Given the description of an element on the screen output the (x, y) to click on. 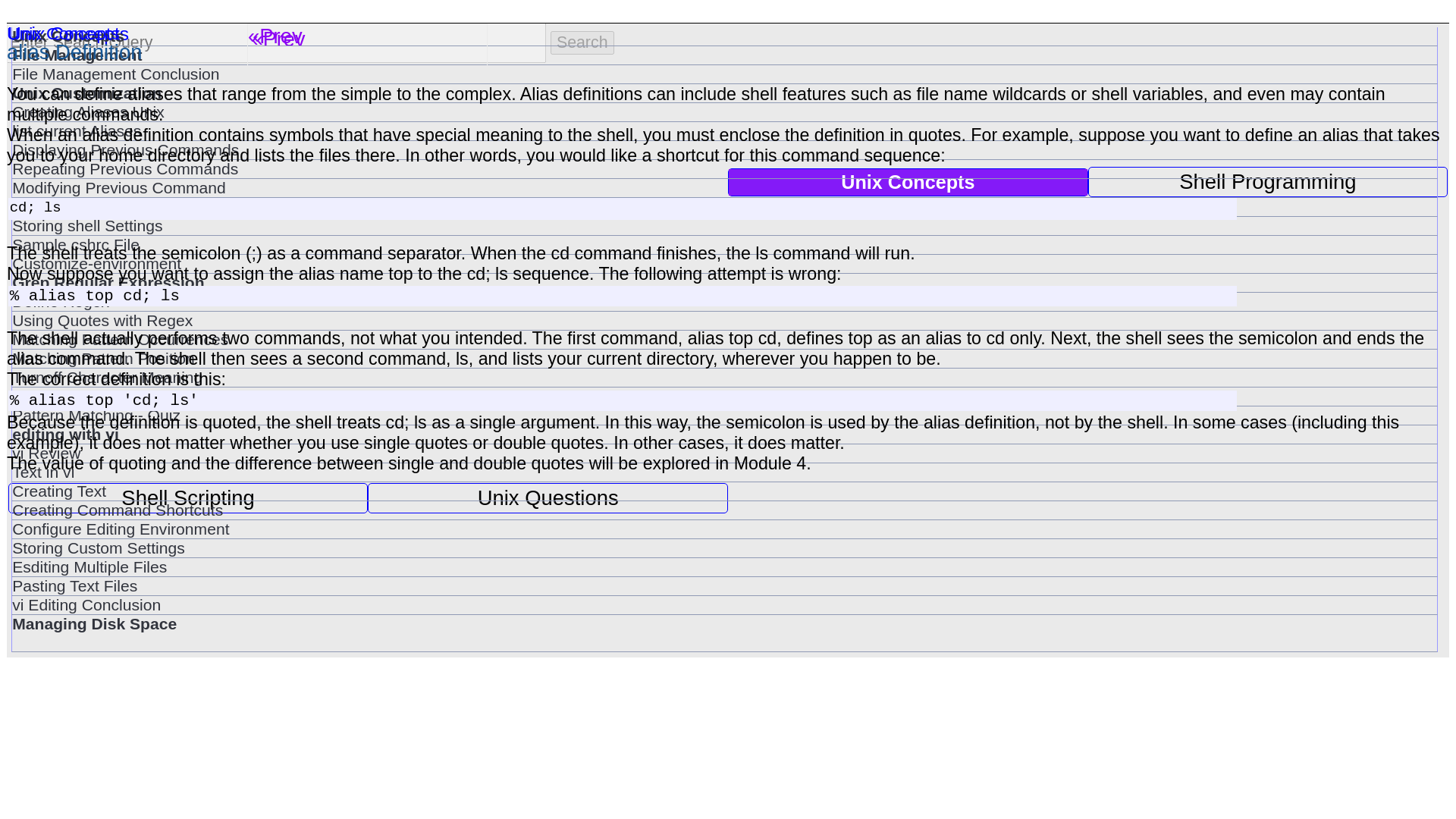
Configure Editing Environment (724, 529)
Managing Disk Space (724, 624)
Shell Scripting (188, 498)
Regex Conclusion (724, 396)
Pasting Text Files (724, 586)
Define Regex (724, 301)
Esditing Multiple Files (724, 566)
Using Quotes with Regex (724, 321)
Displaying Previous Commands (724, 149)
Turnoff Character Meaning (724, 377)
